Given the description of an element on the screen output the (x, y) to click on. 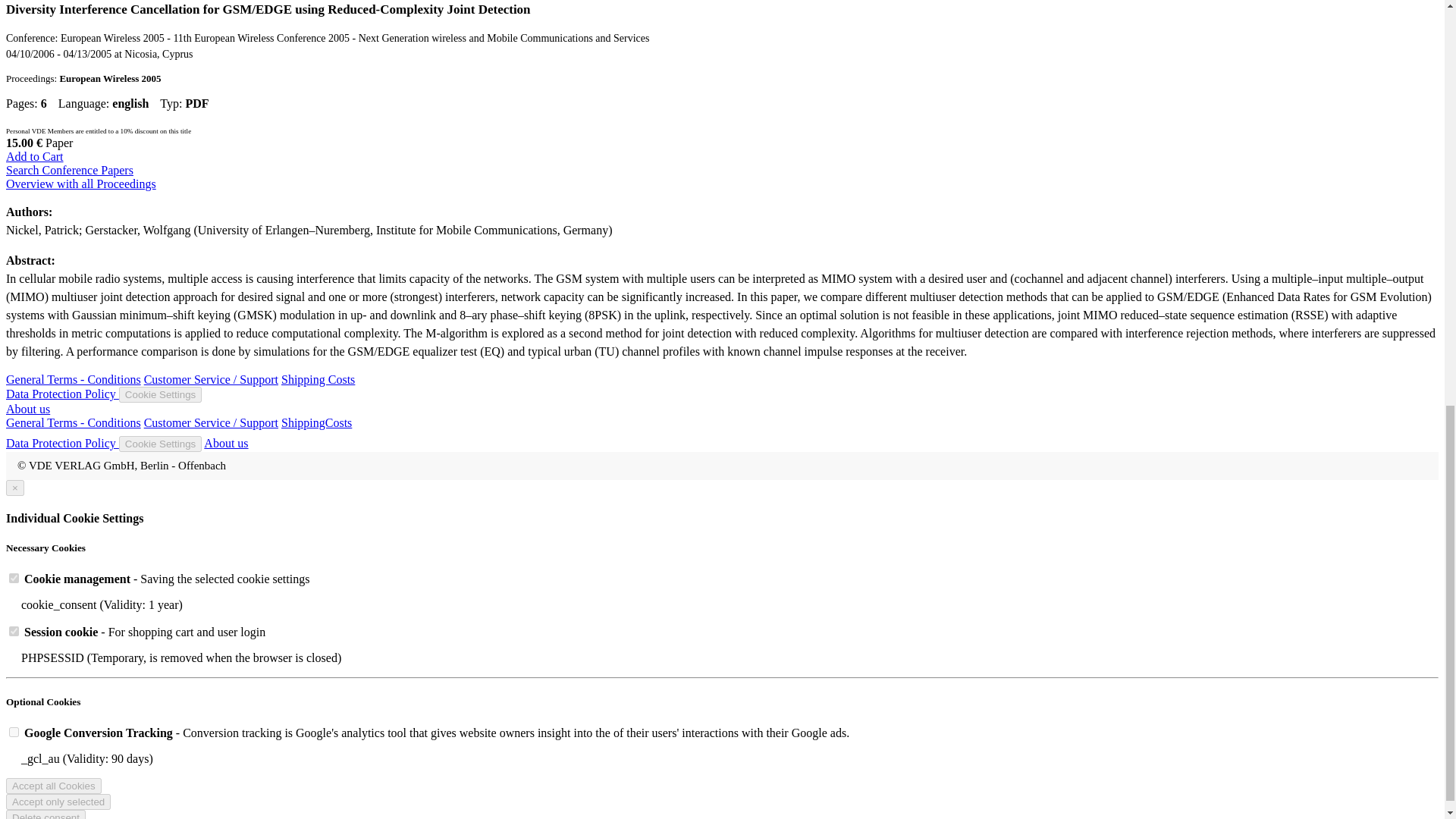
on (13, 578)
on (13, 631)
on (13, 732)
